Given the description of an element on the screen output the (x, y) to click on. 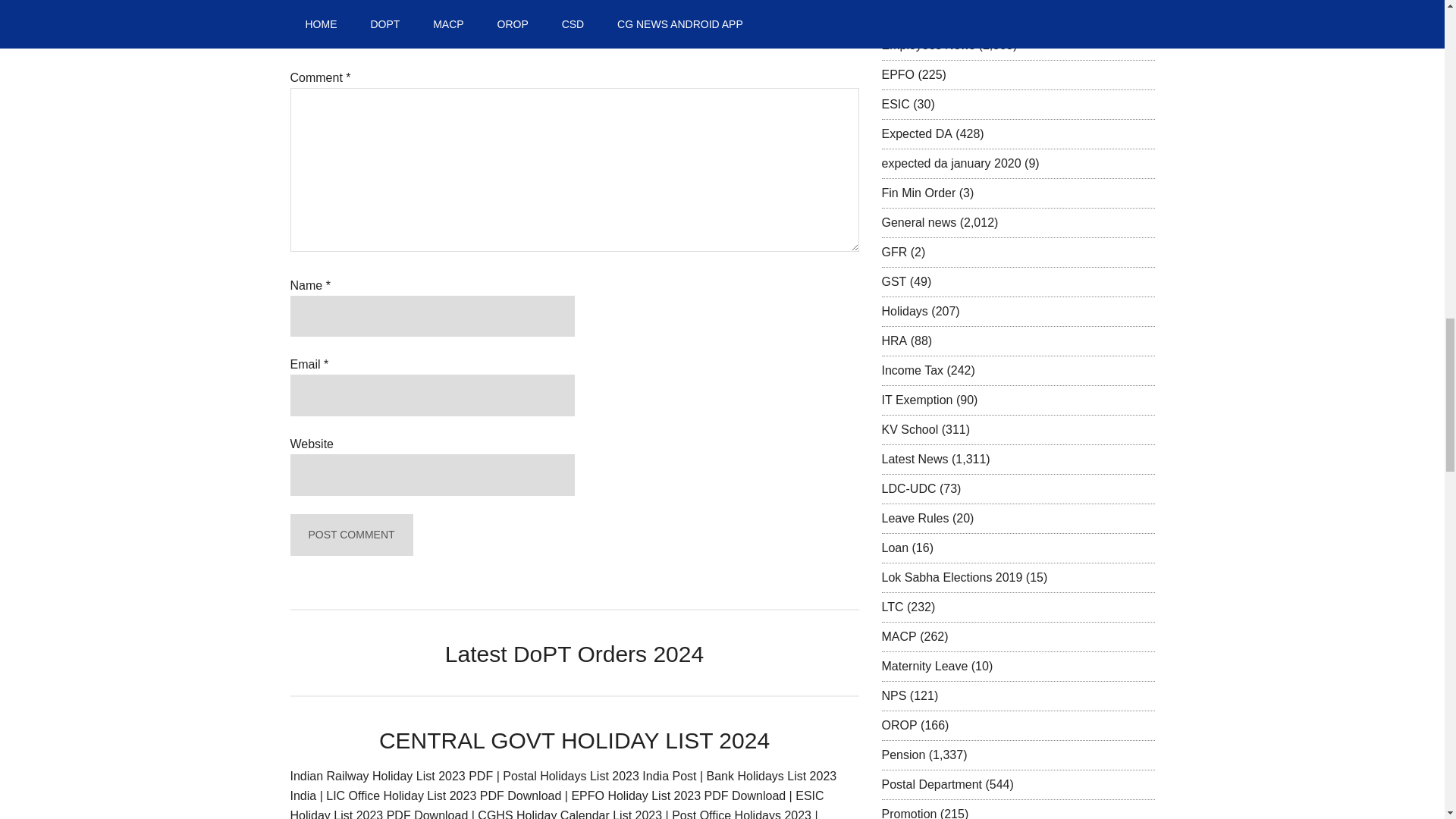
Post Comment (350, 535)
